Given the description of an element on the screen output the (x, y) to click on. 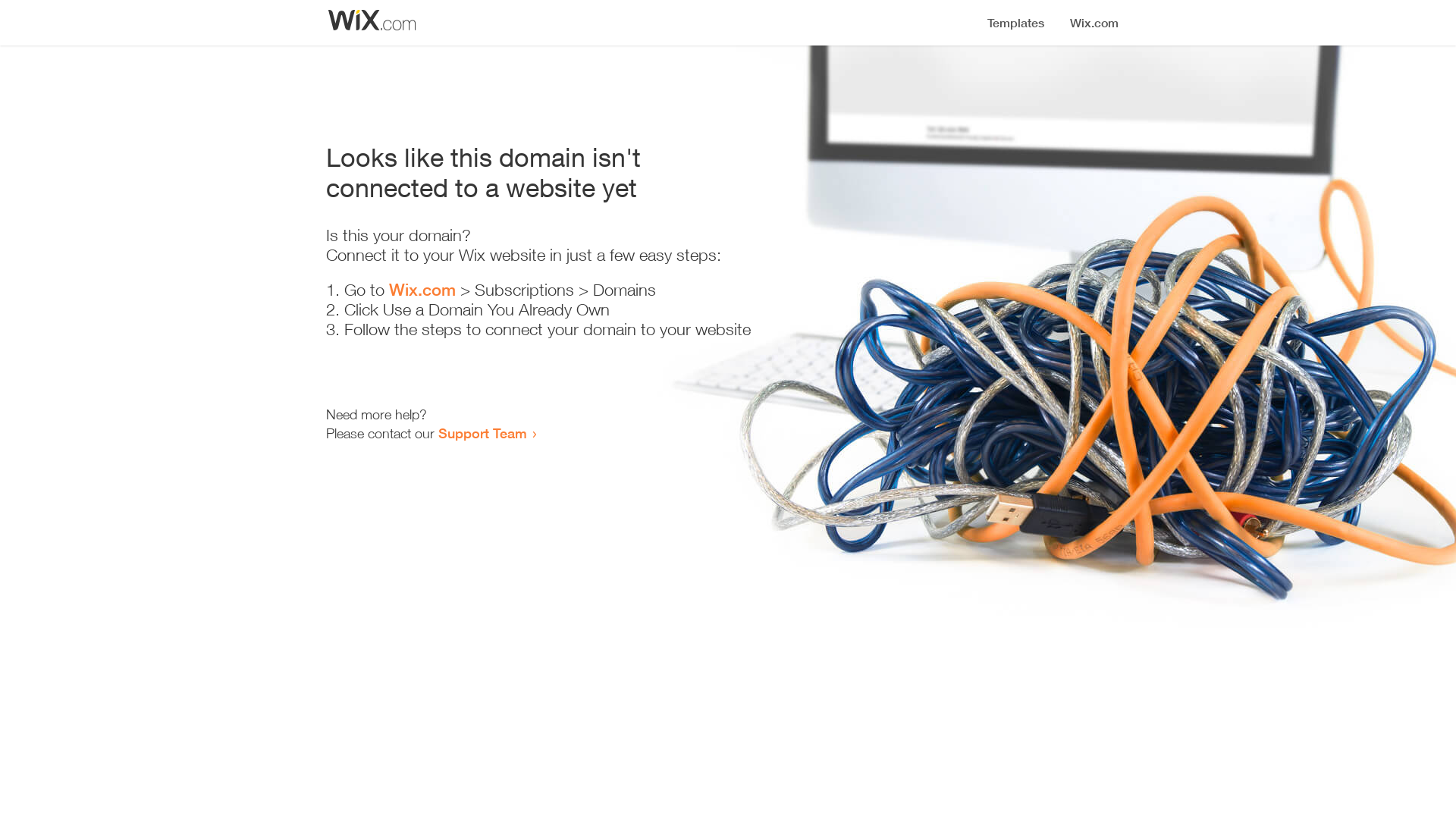
Support Team Element type: text (482, 432)
Wix.com Element type: text (422, 289)
